Given the description of an element on the screen output the (x, y) to click on. 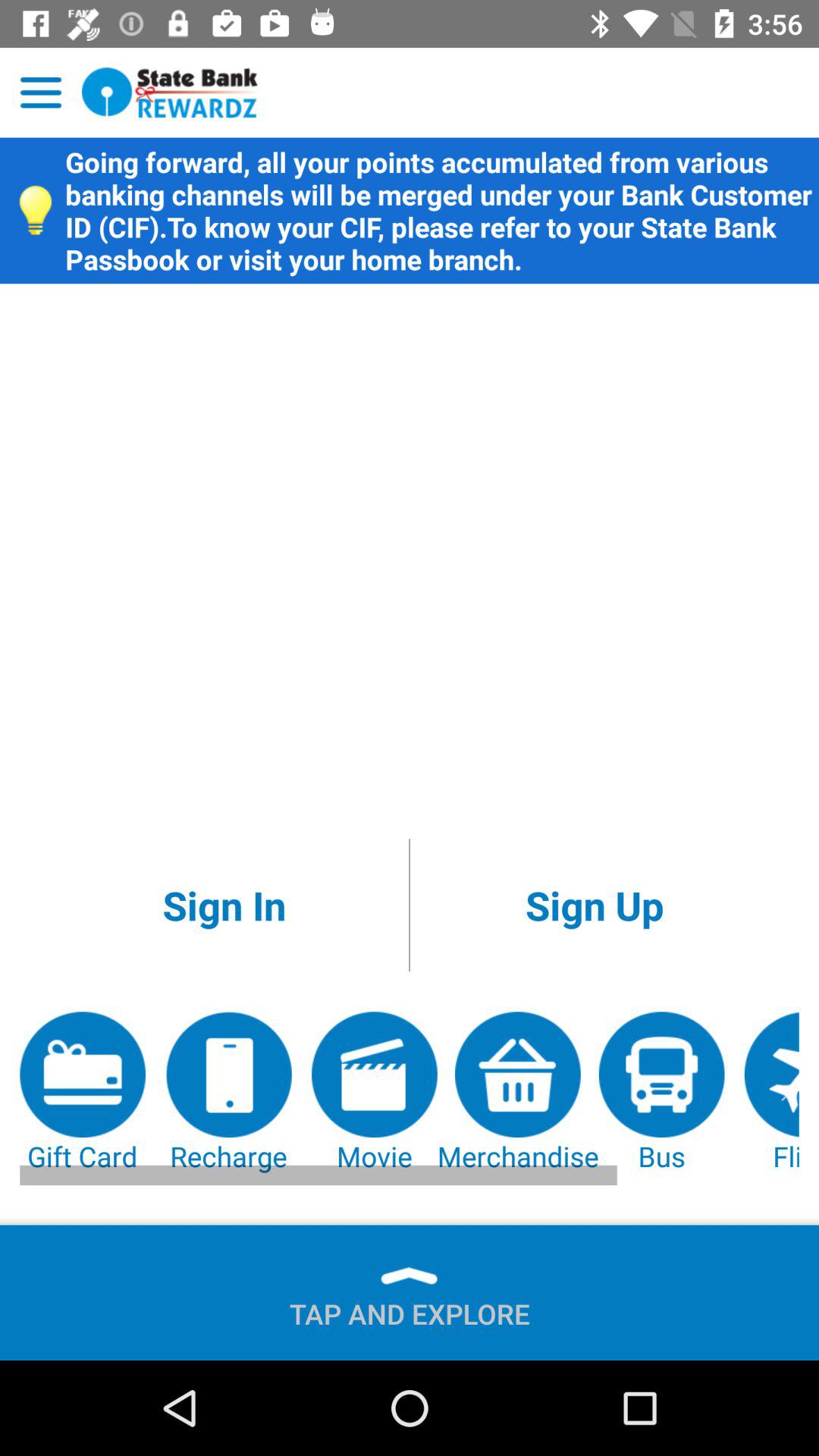
open the icon above recharge icon (223, 904)
